Given the description of an element on the screen output the (x, y) to click on. 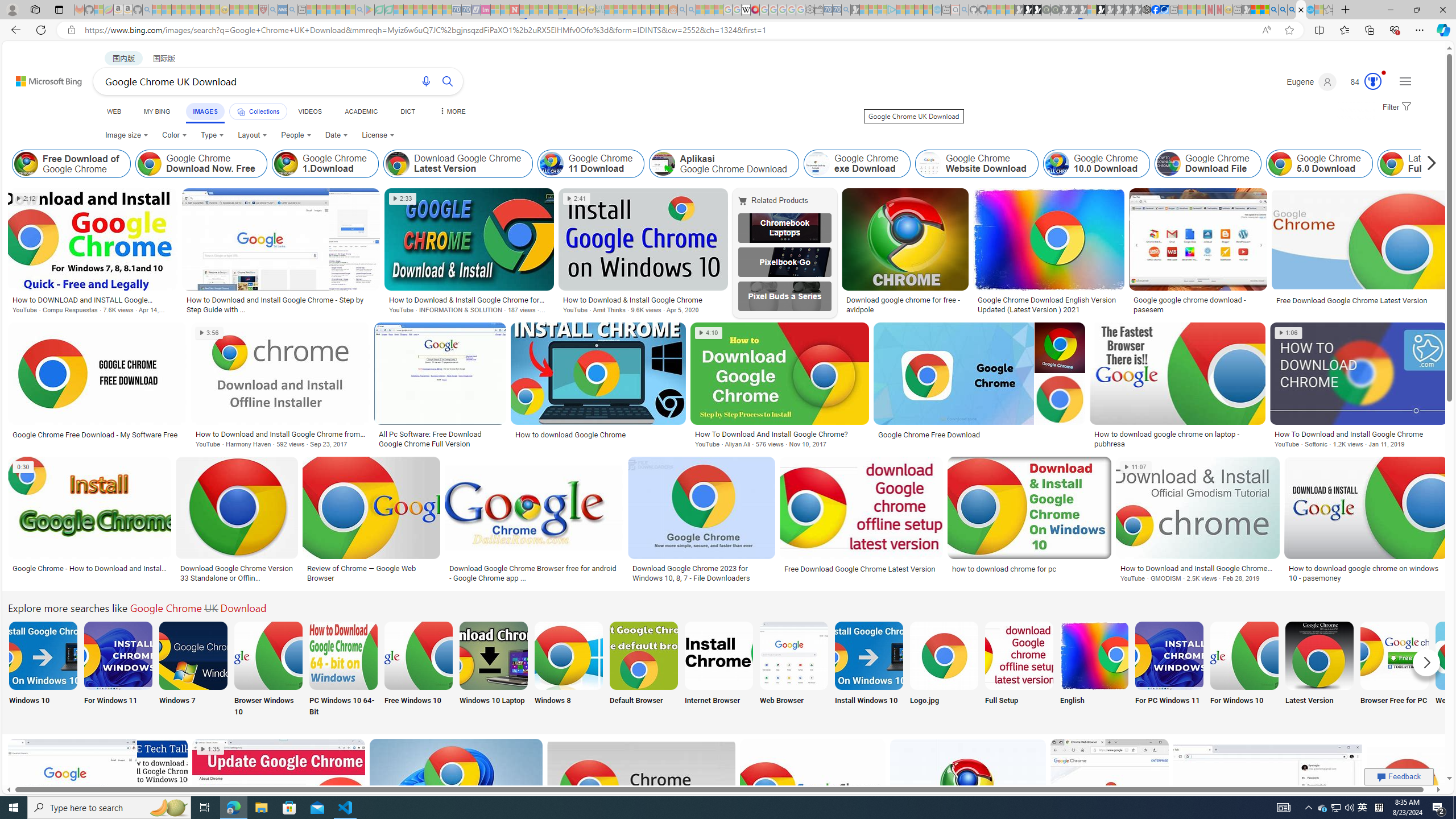
Search using voice (426, 80)
Layout (253, 135)
Download google chrome for free - avidpoleSave (906, 252)
Google Chrome Download and Install Windows 10 (868, 654)
Chromebook Laptops (784, 227)
Google Chrome 1.Download (325, 163)
Free Download of Google Chrome (72, 163)
Download Google Chrome Full Setup (1018, 654)
How To Download And Install Google Chrome? (779, 433)
